Given the description of an element on the screen output the (x, y) to click on. 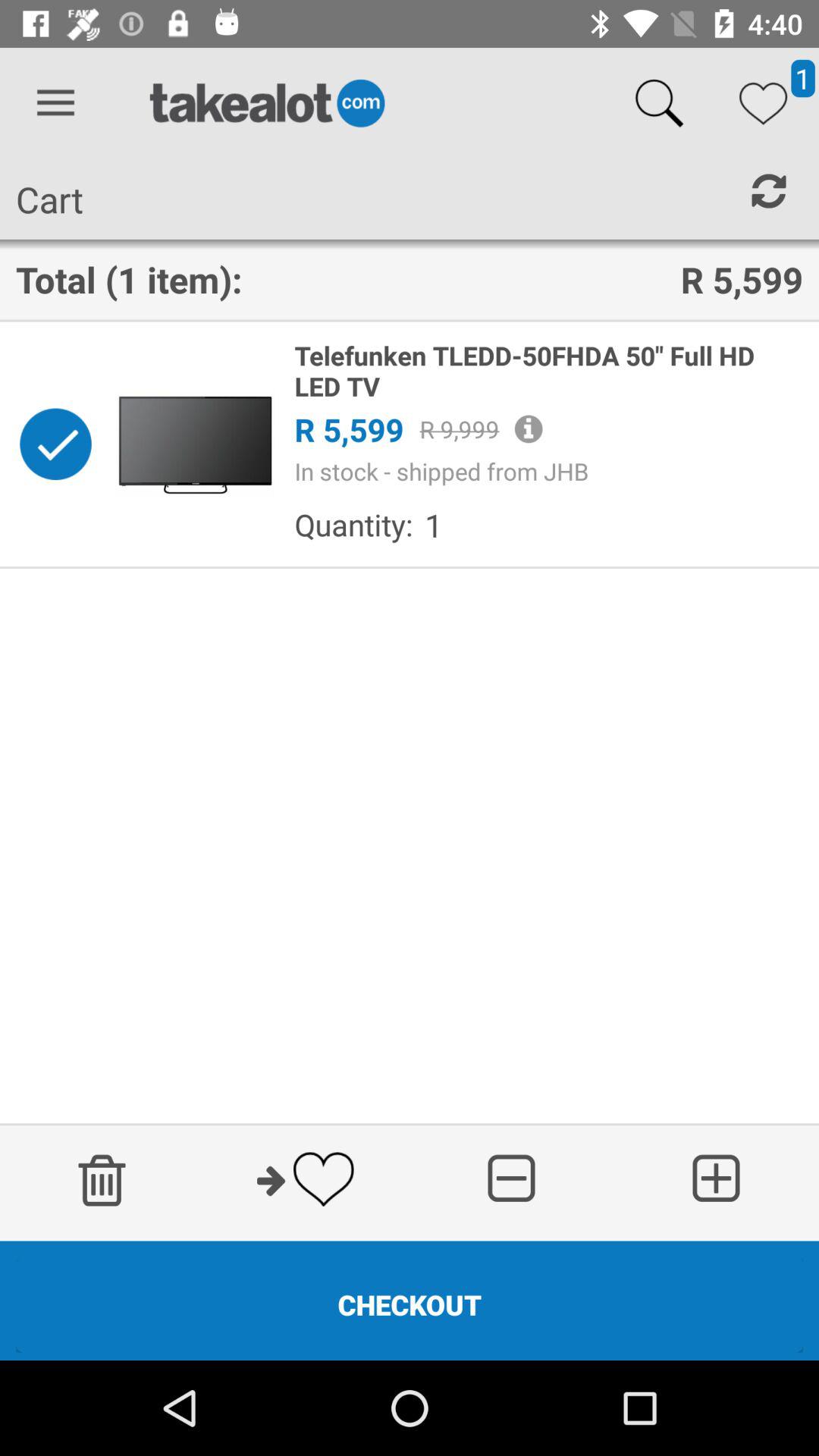
press the checkout icon (409, 1304)
